Given the description of an element on the screen output the (x, y) to click on. 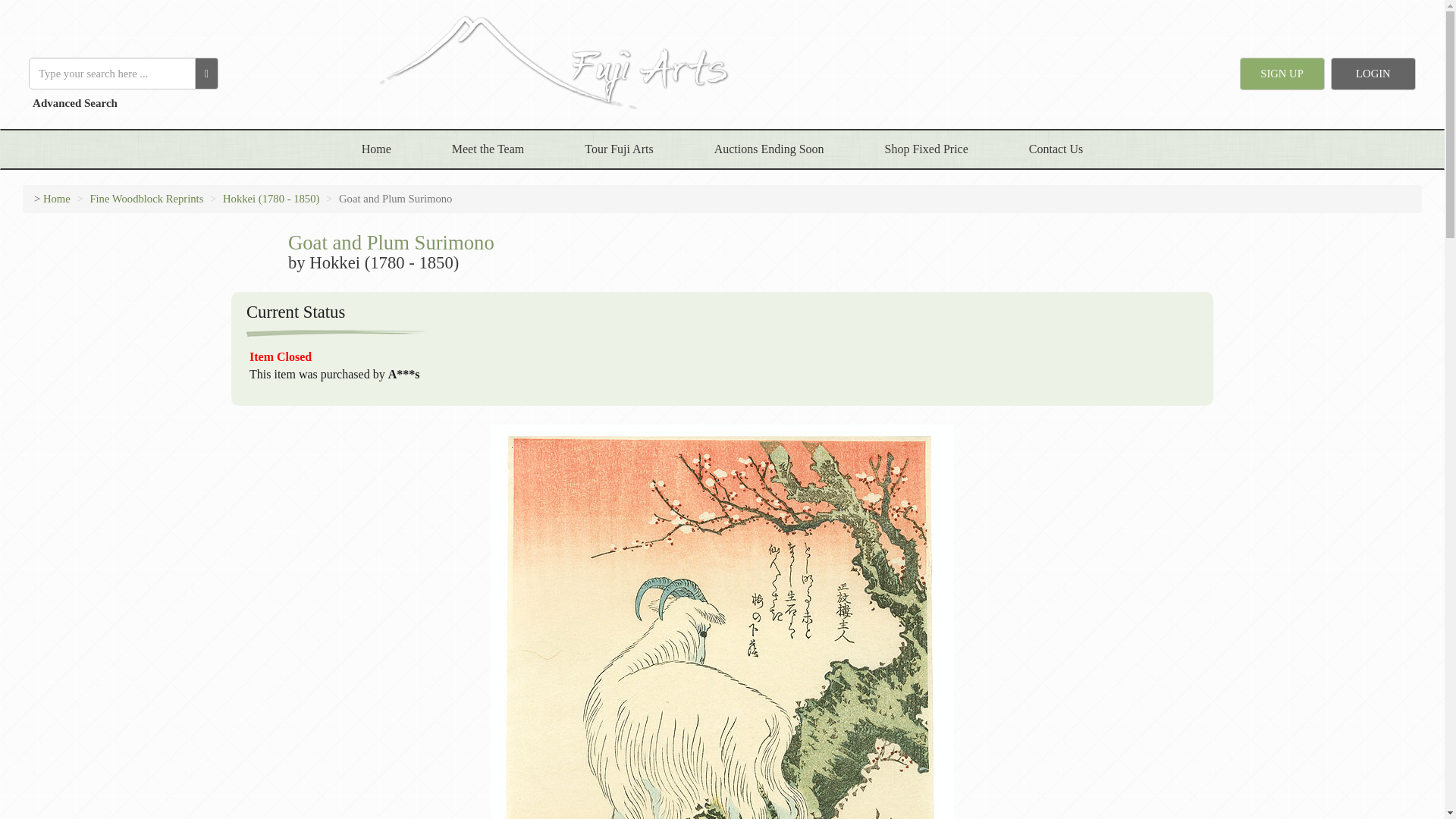
Meet the Team (488, 149)
Shop Fixed Price (926, 149)
Home (56, 198)
Advanced Search (73, 102)
Contact Us (1055, 149)
Home (376, 149)
Auctions Ending Soon (769, 149)
Fine Woodblock Reprints (145, 198)
Tour Fuji Arts (618, 149)
SIGN UP (1282, 73)
